Given the description of an element on the screen output the (x, y) to click on. 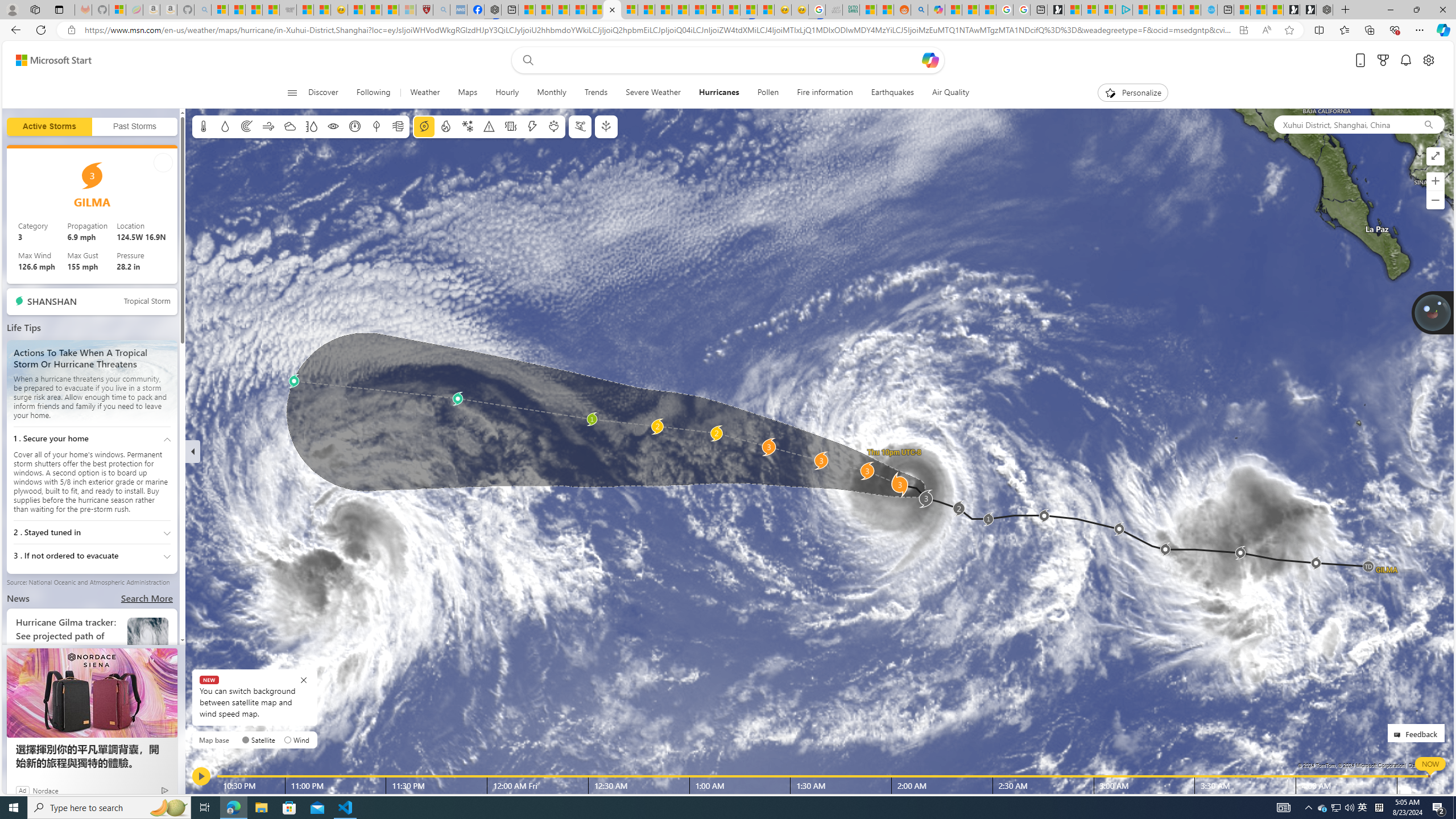
Clouds (289, 126)
Monthly (551, 92)
Earthquakes (892, 92)
App available. Install Microsoft Start Weather (1243, 29)
Maps (467, 92)
